Given the description of an element on the screen output the (x, y) to click on. 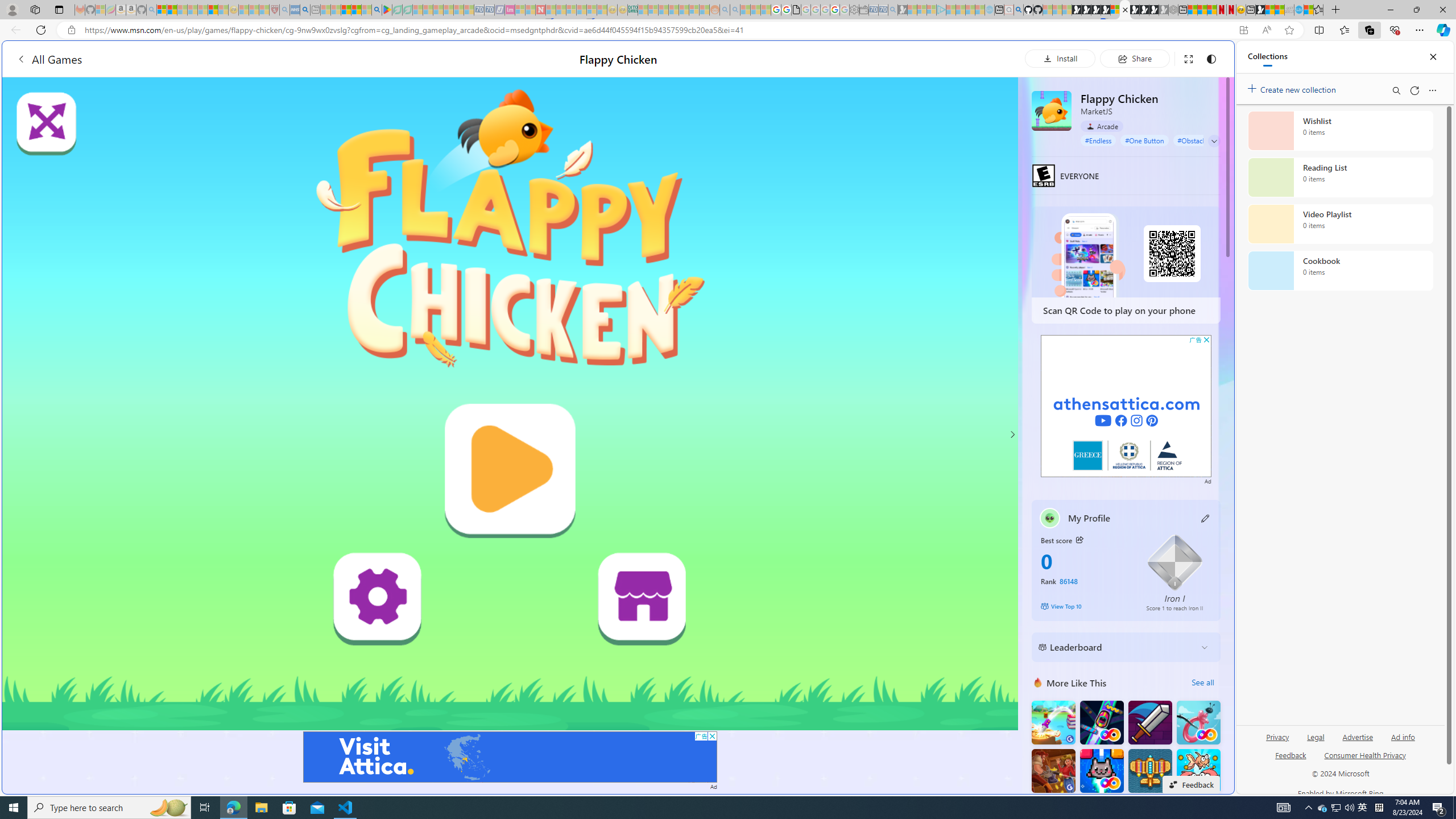
Class: button (1079, 539)
#Endless (1098, 140)
""'s avatar (1049, 518)
